Given the description of an element on the screen output the (x, y) to click on. 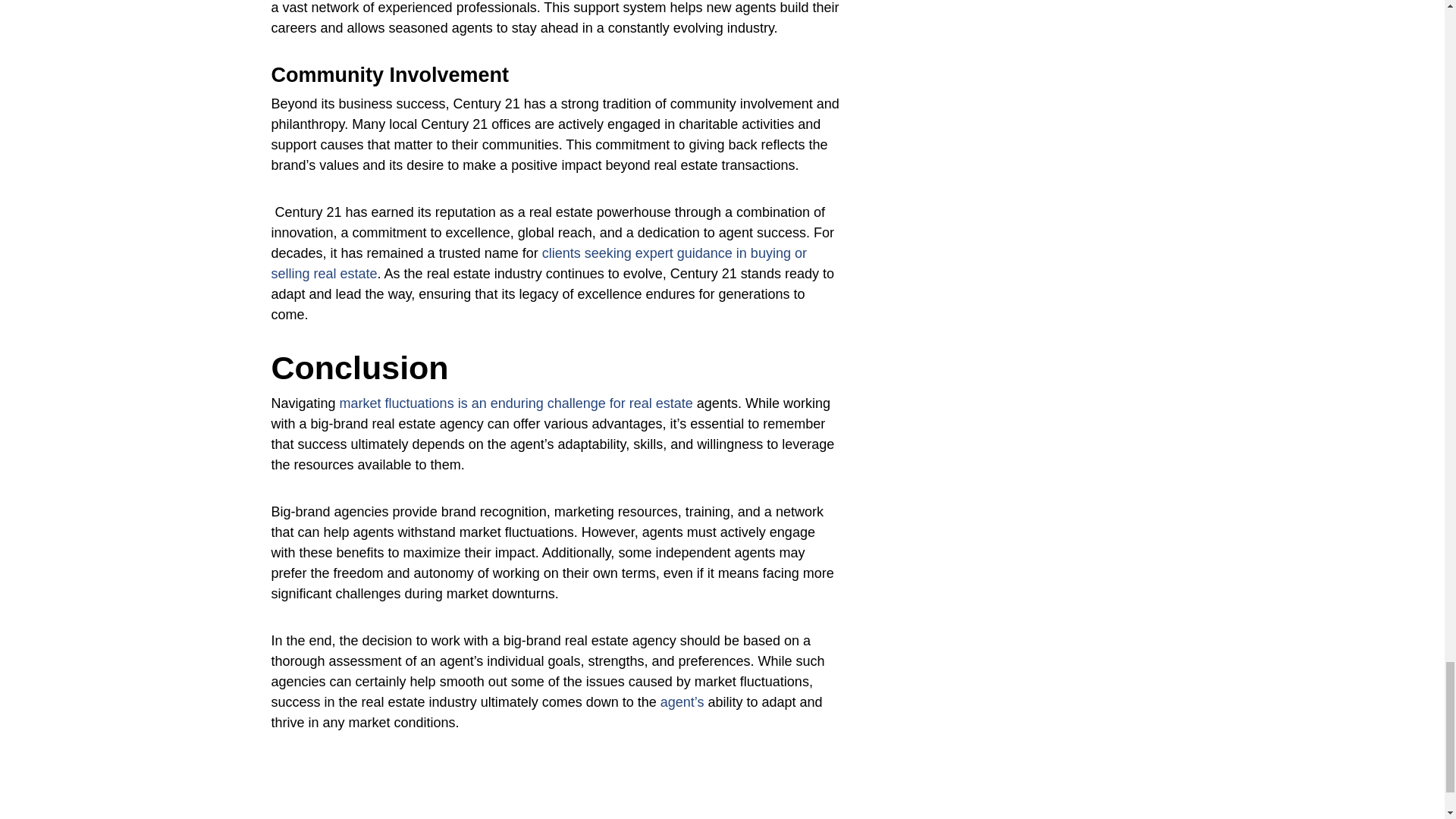
market fluctuations is an enduring challenge for real estate (516, 403)
